Given the description of an element on the screen output the (x, y) to click on. 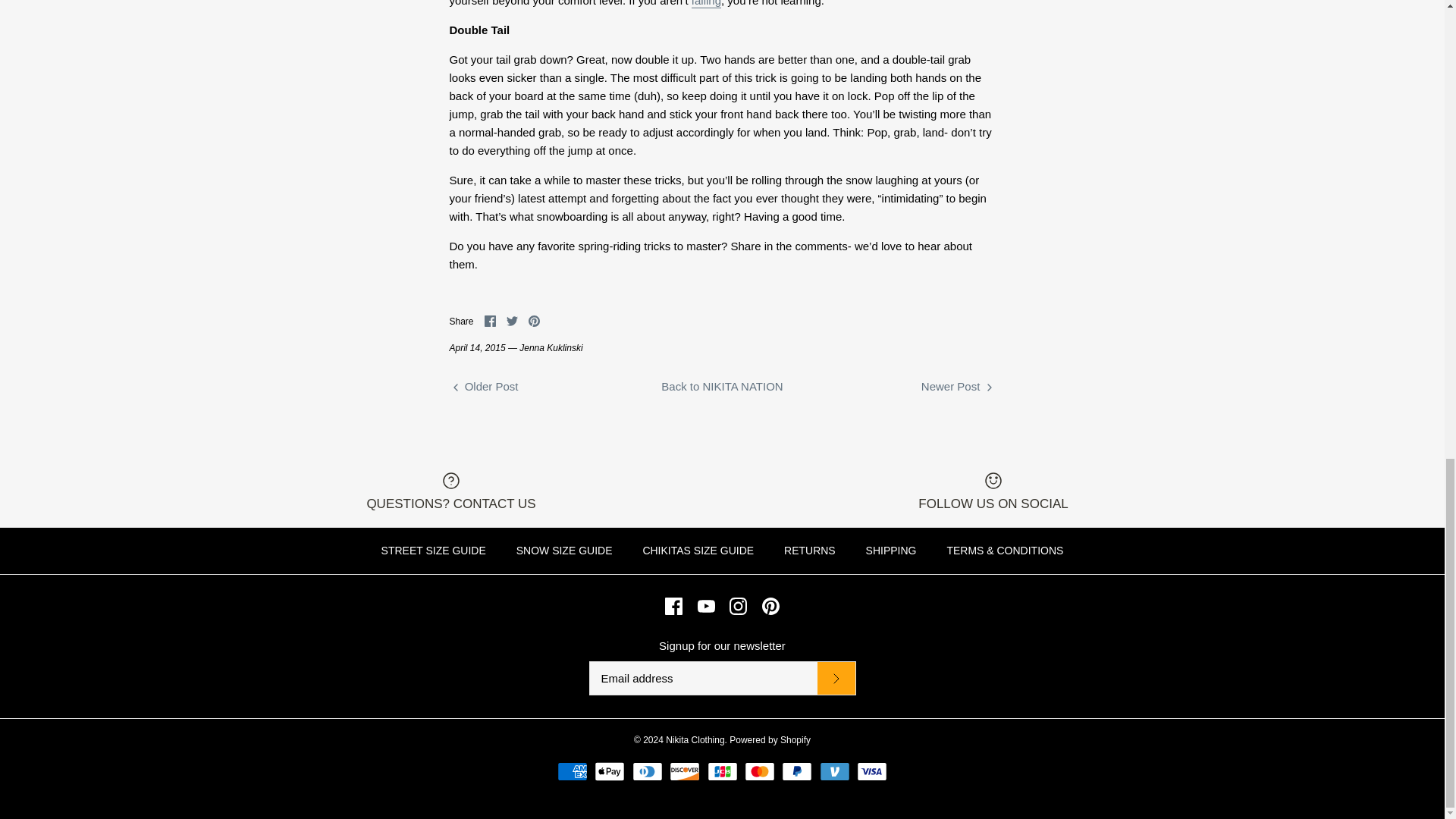
Instagram (737, 606)
Pinterest (769, 606)
Youtube (705, 606)
Pinterest (534, 320)
Facebook (673, 606)
Facebook (490, 320)
Right (988, 387)
Left (454, 387)
Twitter (512, 320)
